Given the description of an element on the screen output the (x, y) to click on. 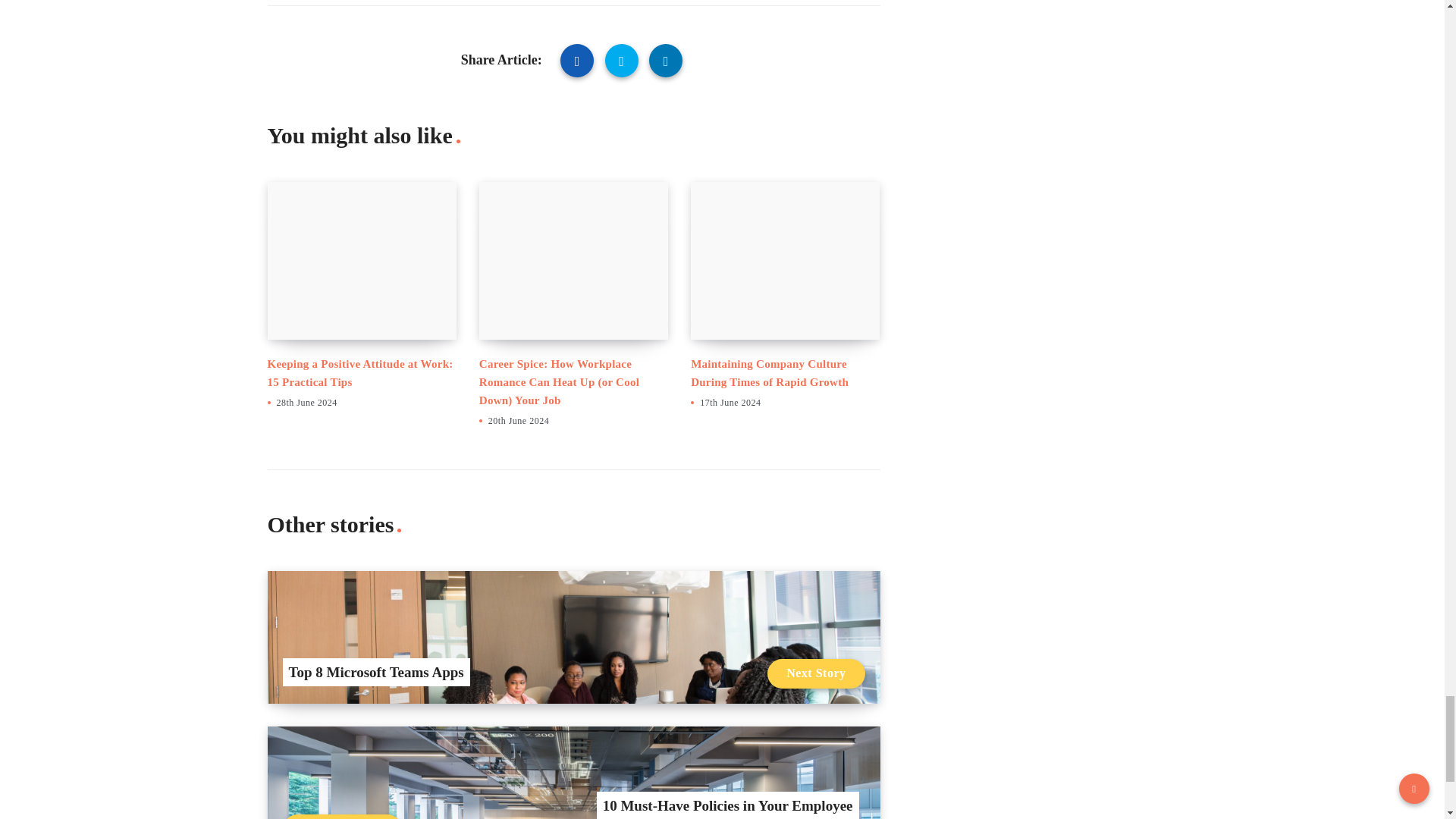
Maintaining Company Culture During Times of Rapid Growth (769, 372)
Keeping a Positive Attitude at Work: 15 Practical Tips (359, 372)
